Given the description of an element on the screen output the (x, y) to click on. 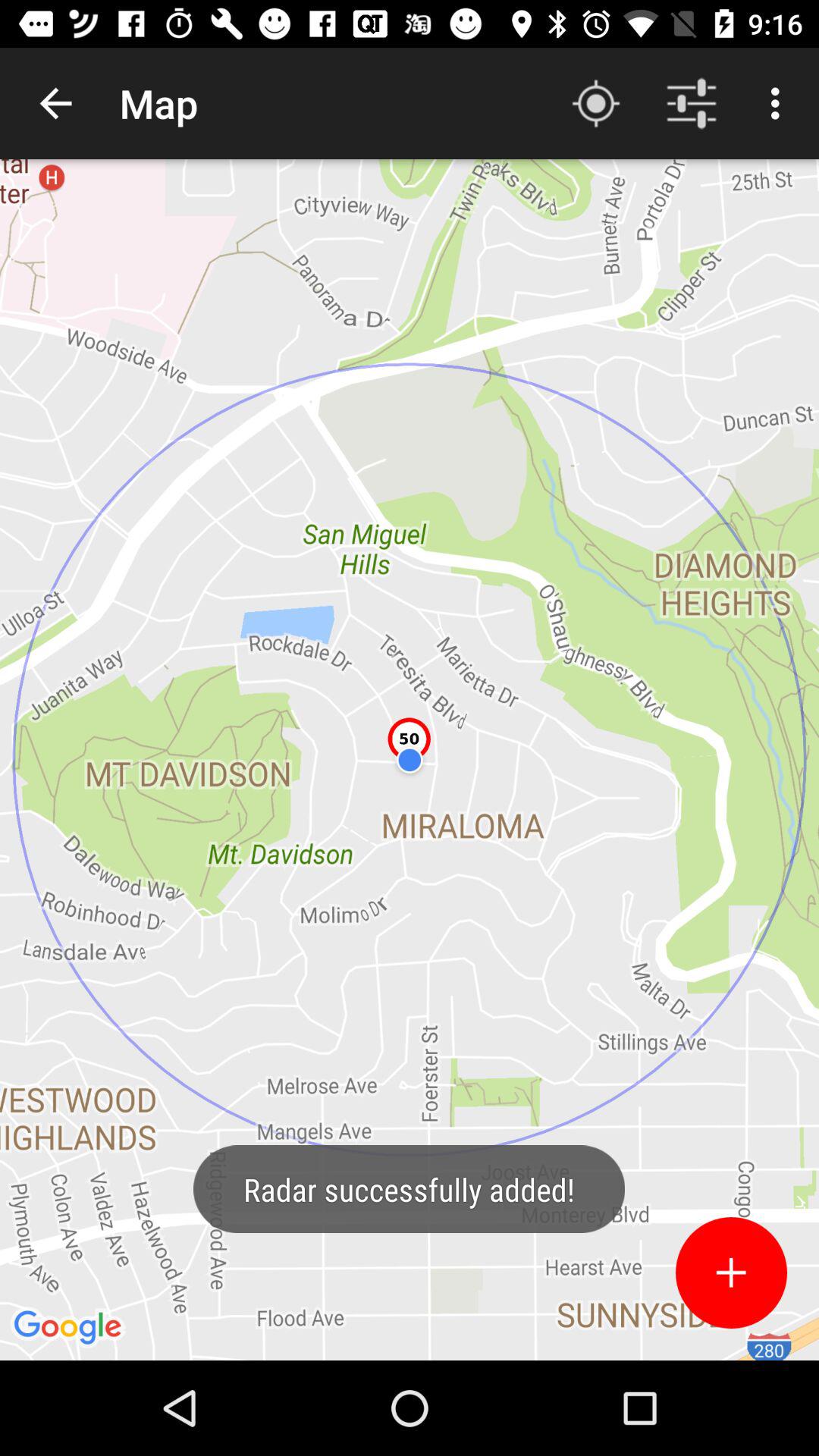
launch the app to the right of map (595, 103)
